Given the description of an element on the screen output the (x, y) to click on. 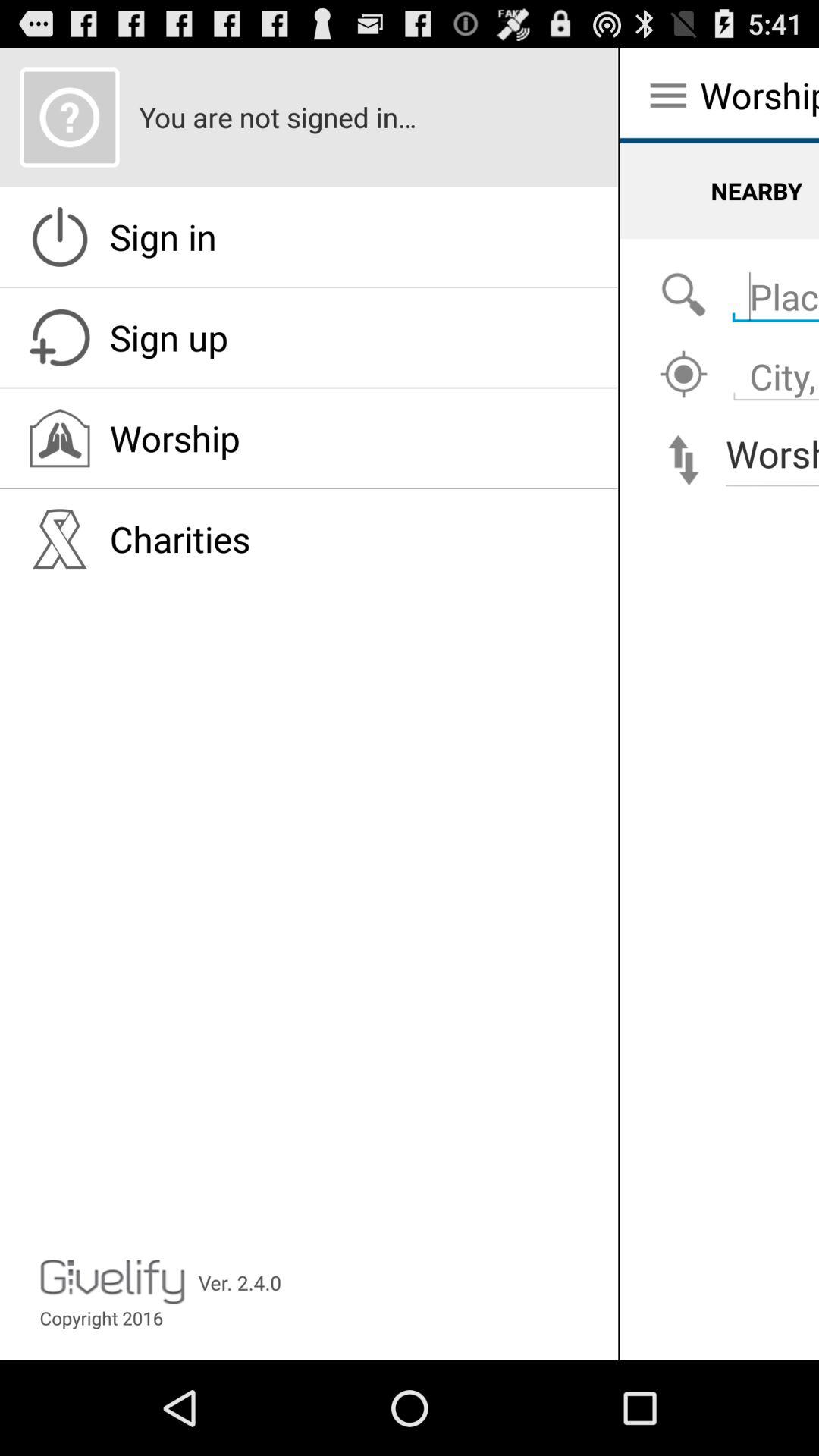
add location (683, 375)
